Given the description of an element on the screen output the (x, y) to click on. 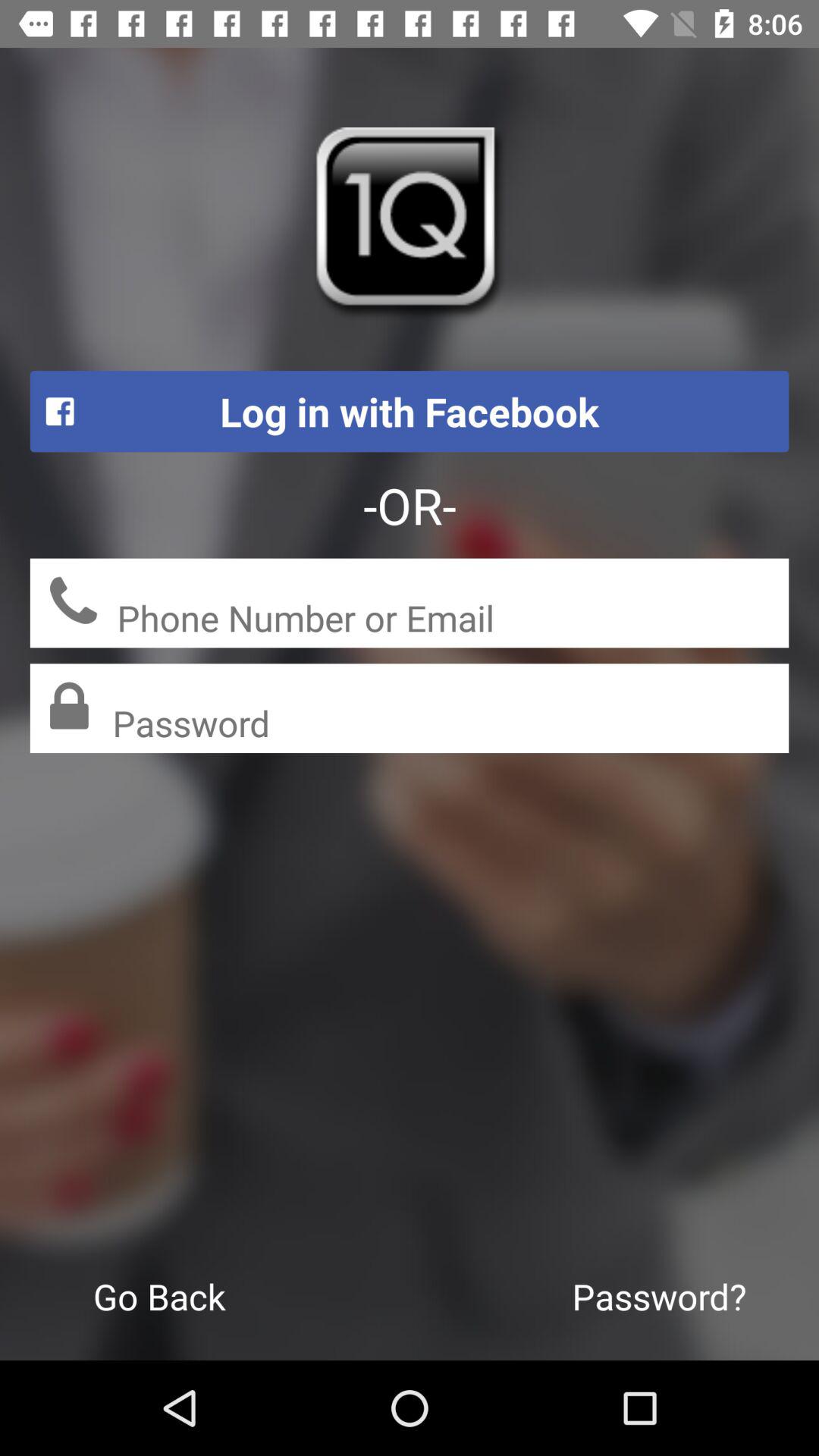
enter password (450, 724)
